Given the description of an element on the screen output the (x, y) to click on. 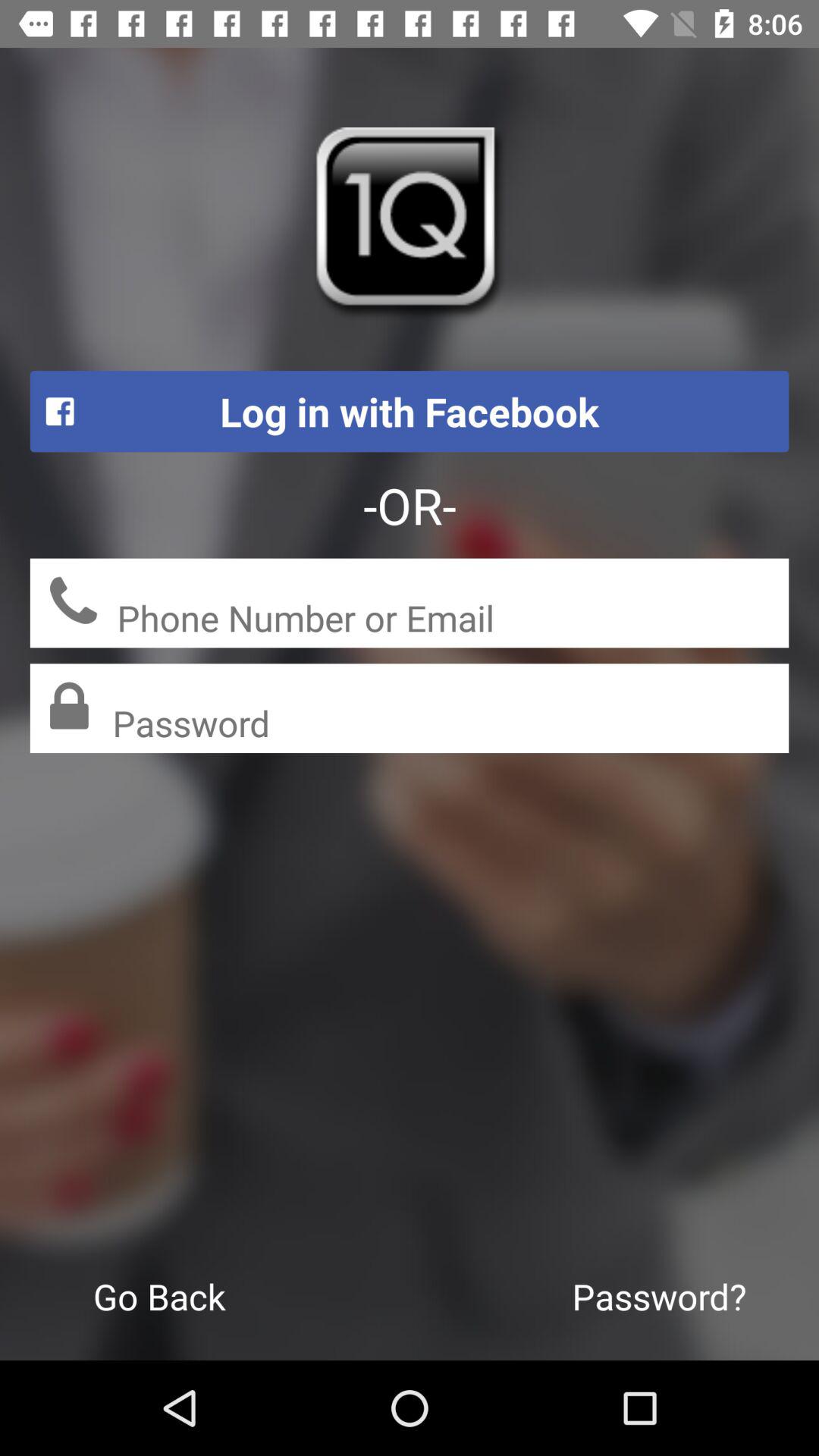
enter password (450, 724)
